Given the description of an element on the screen output the (x, y) to click on. 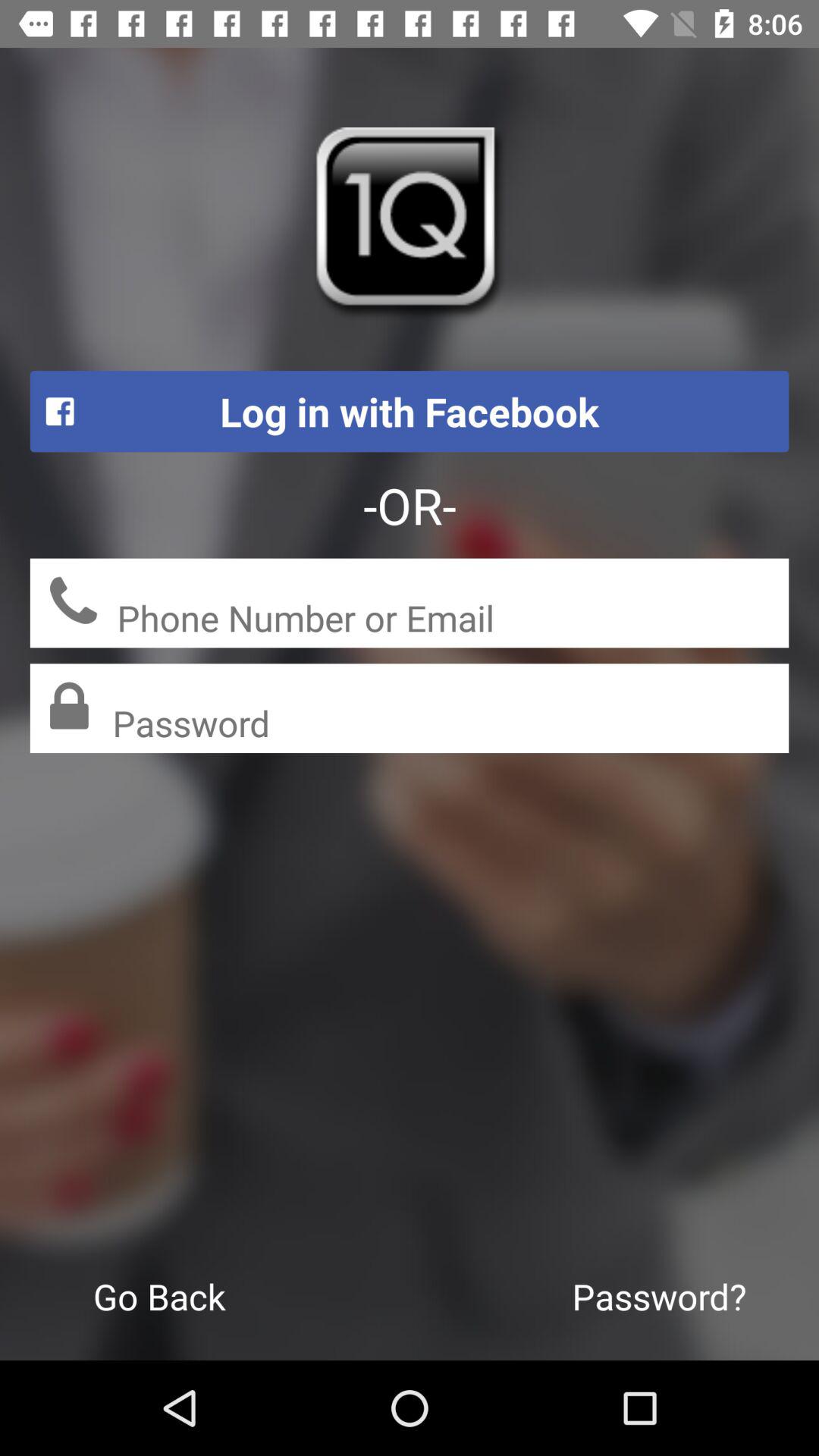
enter password (450, 724)
